Given the description of an element on the screen output the (x, y) to click on. 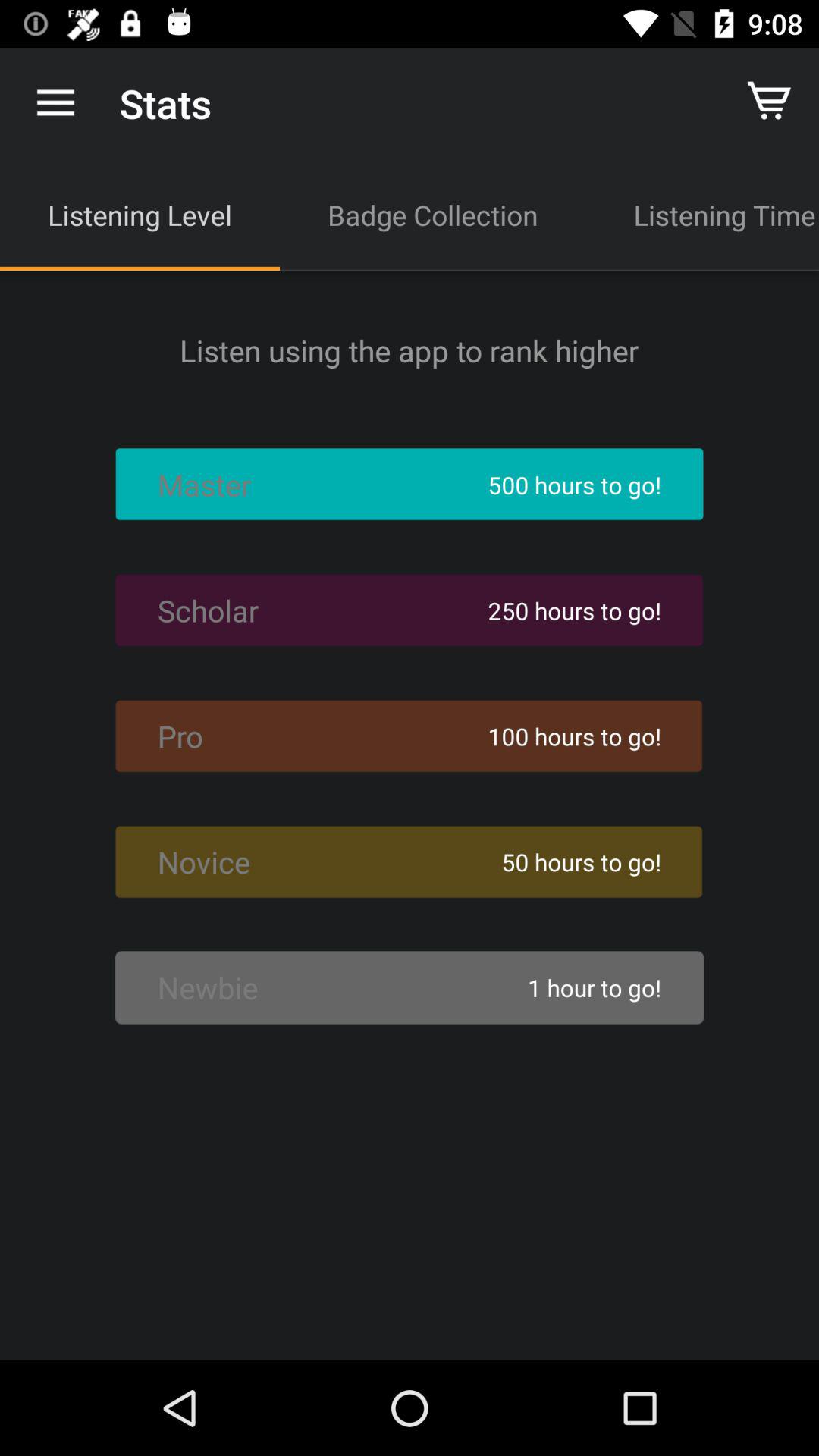
press the icon to the left of the listening time item (432, 214)
